Given the description of an element on the screen output the (x, y) to click on. 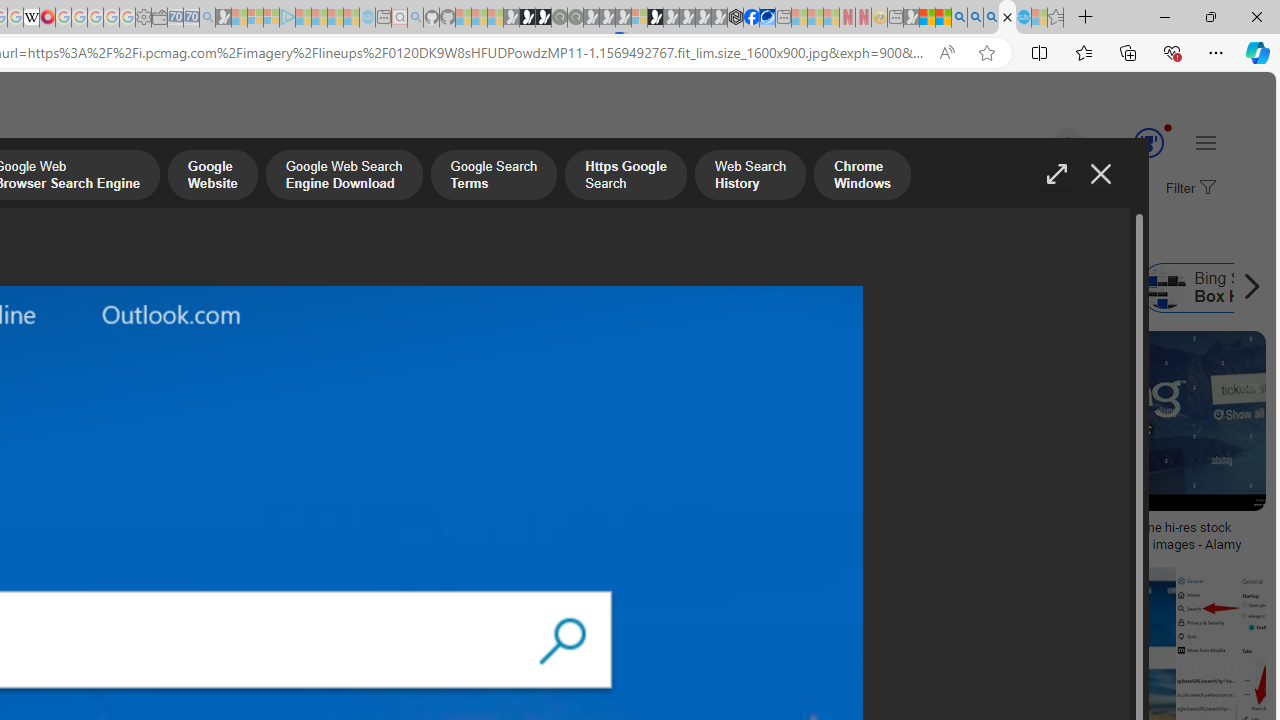
Bing Home Search Site (996, 287)
Bing Search Box History (1165, 287)
Related ProductsT-ShirtsHoodiesMugs (136, 444)
Bing Search Engine Homepage (740, 287)
AirNow.gov (767, 17)
